Given the description of an element on the screen output the (x, y) to click on. 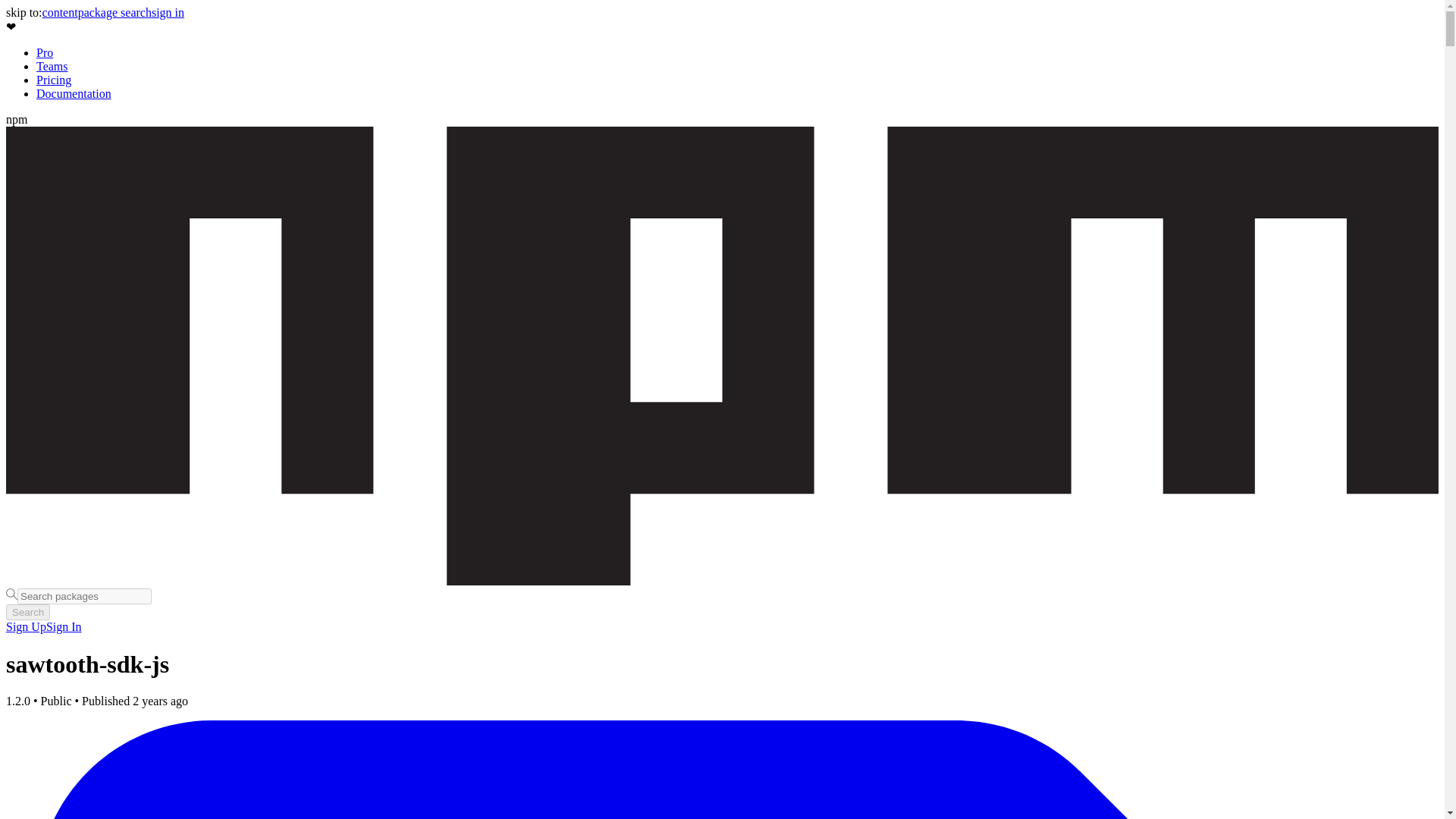
Teams (52, 65)
Sign Up (25, 626)
Pricing (53, 79)
Sign In (63, 626)
Documentation (74, 92)
Pro (44, 51)
sign in (167, 11)
package search (114, 11)
Search (27, 611)
content (60, 11)
